Given the description of an element on the screen output the (x, y) to click on. 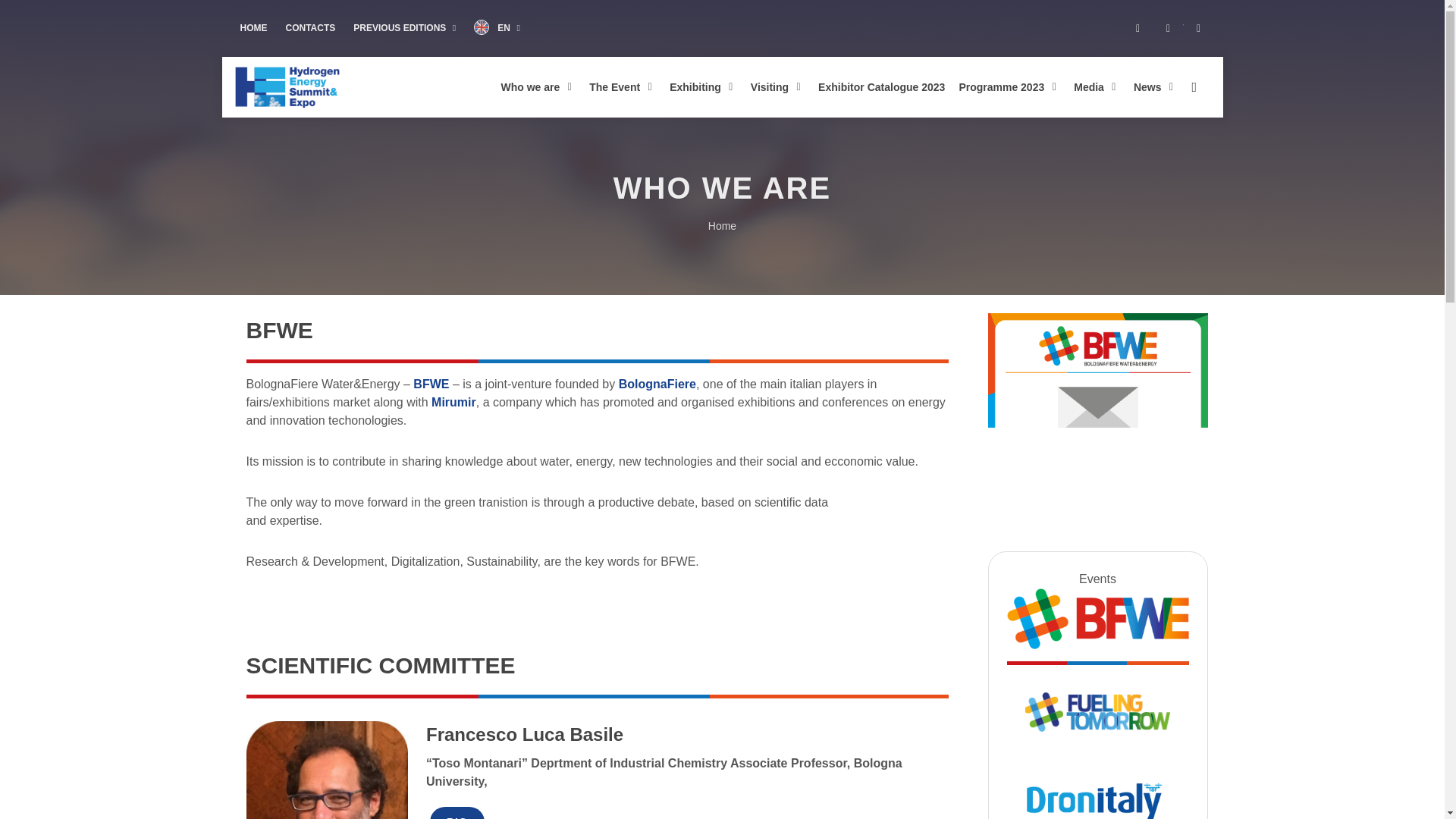
PREVIOUS EDITIONS (403, 28)
EN (496, 28)
The Event (622, 86)
CONTACTS (309, 28)
Exhibiting (702, 86)
HOME (253, 28)
Who we are (537, 86)
